Given the description of an element on the screen output the (x, y) to click on. 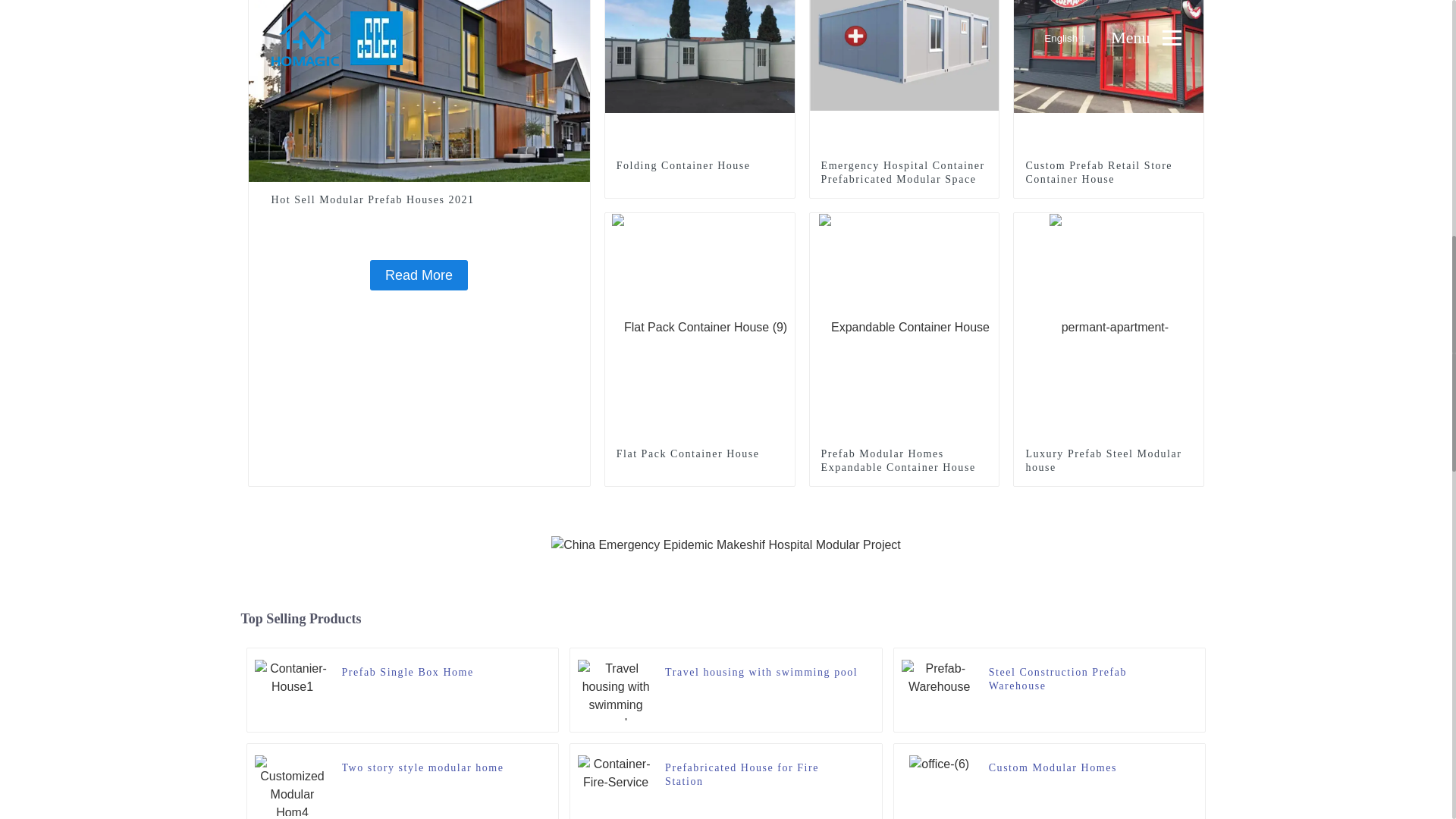
Read More (418, 275)
 Folding Container House (699, 38)
Hot Sell Modular Prefab Houses 2021 (418, 200)
Custom Prefab Retail Store Container House (1108, 172)
Emergency Hospital Container Prefabricated Modular Space (904, 172)
Custom Prefab Retail Store Container House (1108, 38)
Emergency Hospital Container Prefabricated Modular Space (903, 38)
Flat Pack Container House (699, 326)
Hot Sell Modular Prefab Houses 2021 (418, 200)
Hot Sell Modular Prefab Houses 2021 (418, 275)
